Given the description of an element on the screen output the (x, y) to click on. 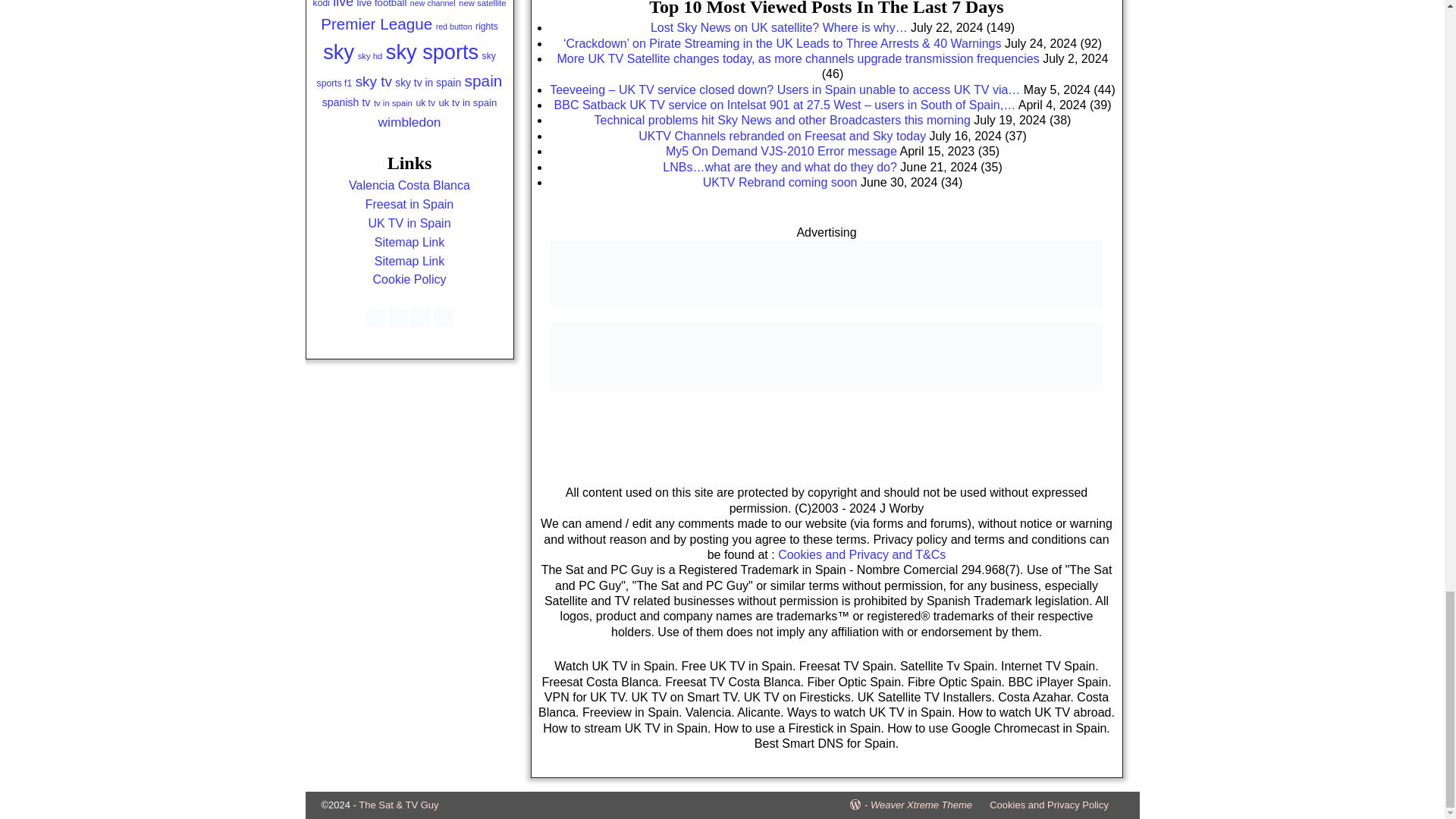
Best VPN for UK TV (826, 356)
Best VPN for UK TV (826, 386)
Smart DNS Proxy Services (826, 274)
Smart DNS Proxy Services (826, 313)
